Given the description of an element on the screen output the (x, y) to click on. 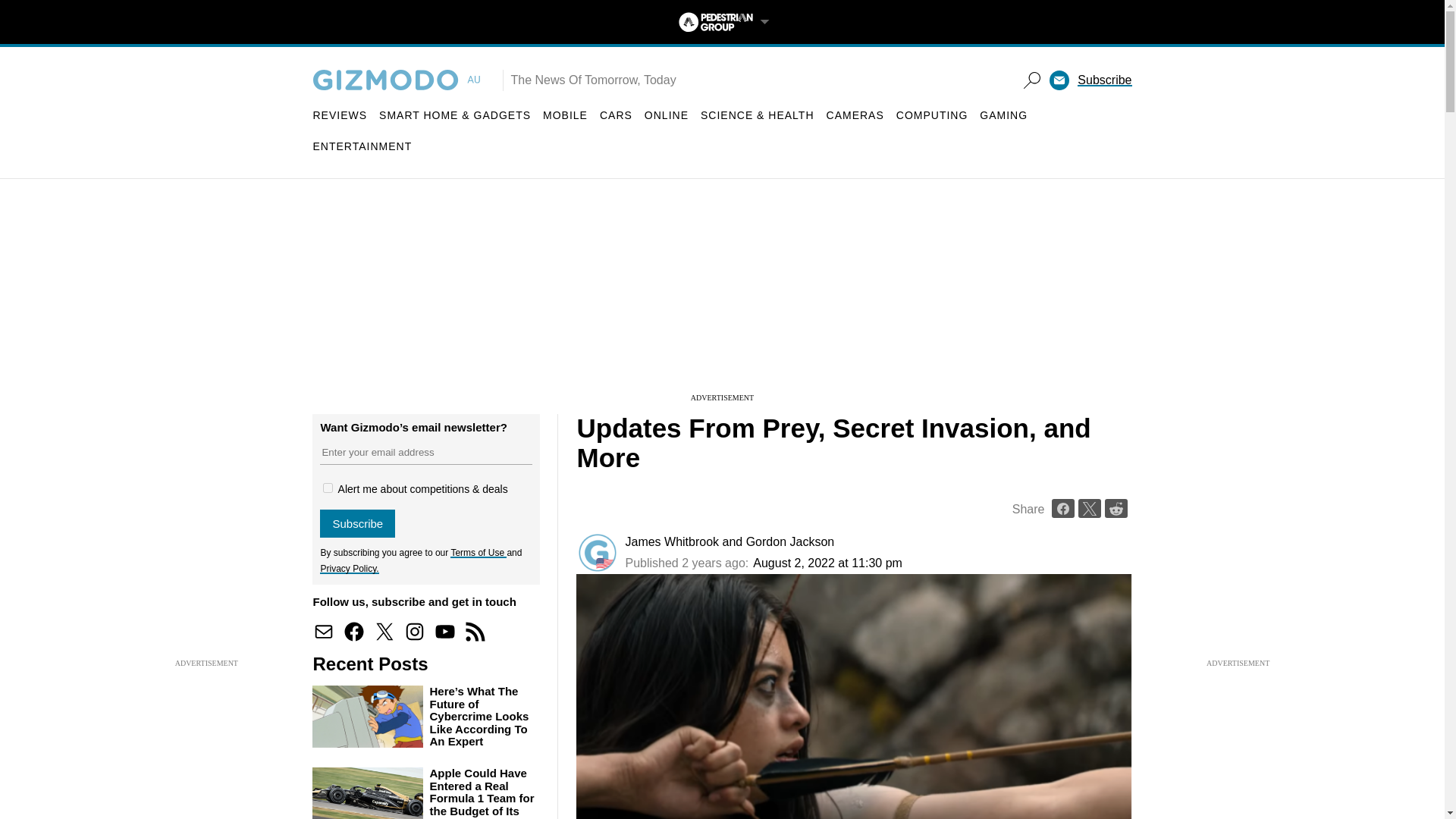
CARS (615, 115)
REVIEWS (339, 115)
Subscribe (357, 523)
ONLINE (666, 115)
COMPUTING (932, 115)
Subscribe (1104, 79)
CAMERAS (855, 115)
MOBILE (565, 115)
ENTERTAINMENT (362, 145)
3rd party ad content (721, 296)
GAMING (1003, 115)
